Given the description of an element on the screen output the (x, y) to click on. 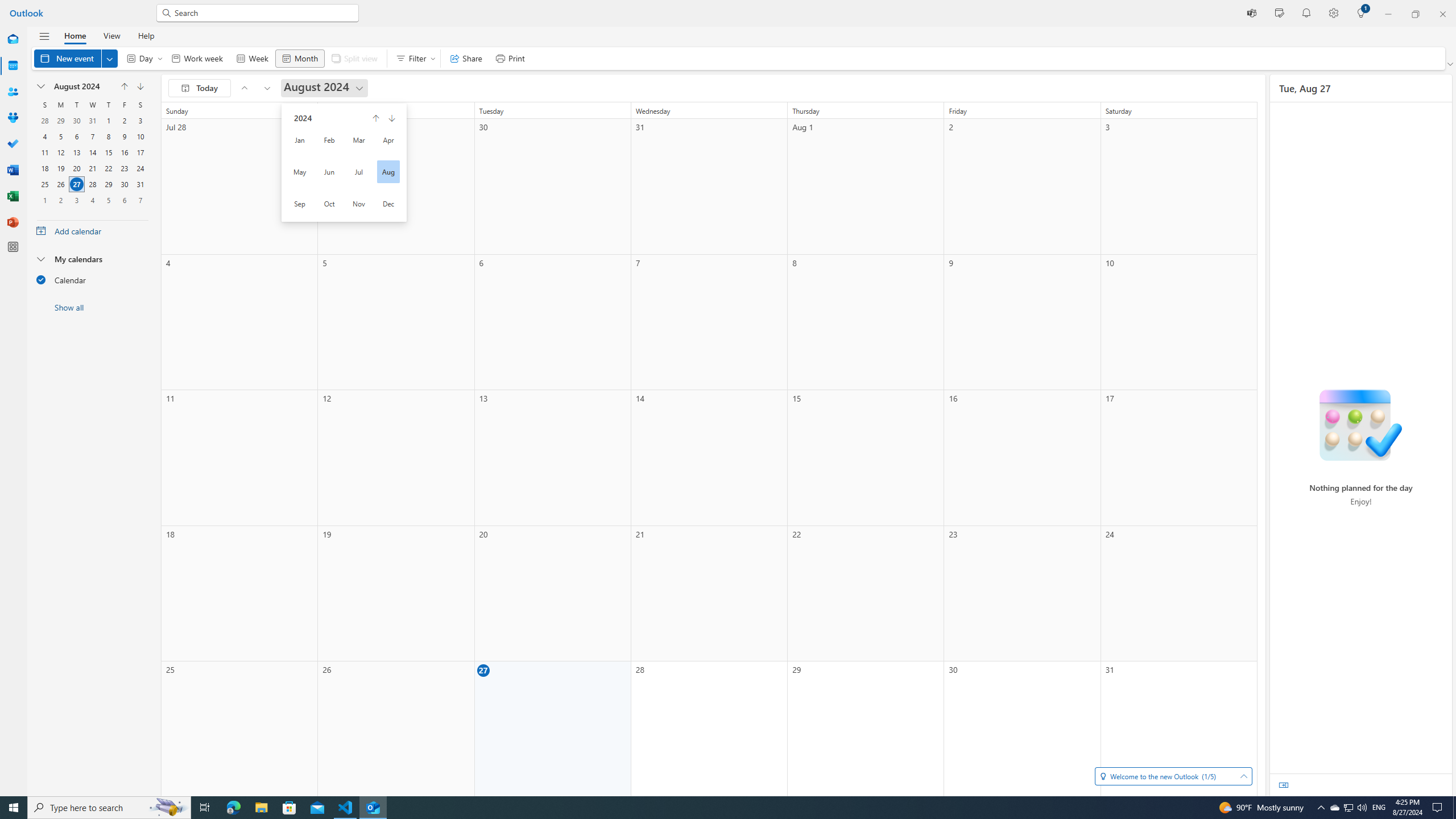
15, August, 2024 (108, 151)
29, August, 2024 (108, 184)
2, August, 2024 (124, 120)
Day (141, 58)
My calendarsCalendar (92, 272)
Groups (12, 118)
28, July, 2024 (44, 120)
7, September, 2024 (140, 200)
Word (12, 169)
27, August, 2024 (76, 184)
Go to today August 27, 2024 (199, 88)
21, August, 2024 (92, 168)
12, August, 2024 (60, 152)
